Given the description of an element on the screen output the (x, y) to click on. 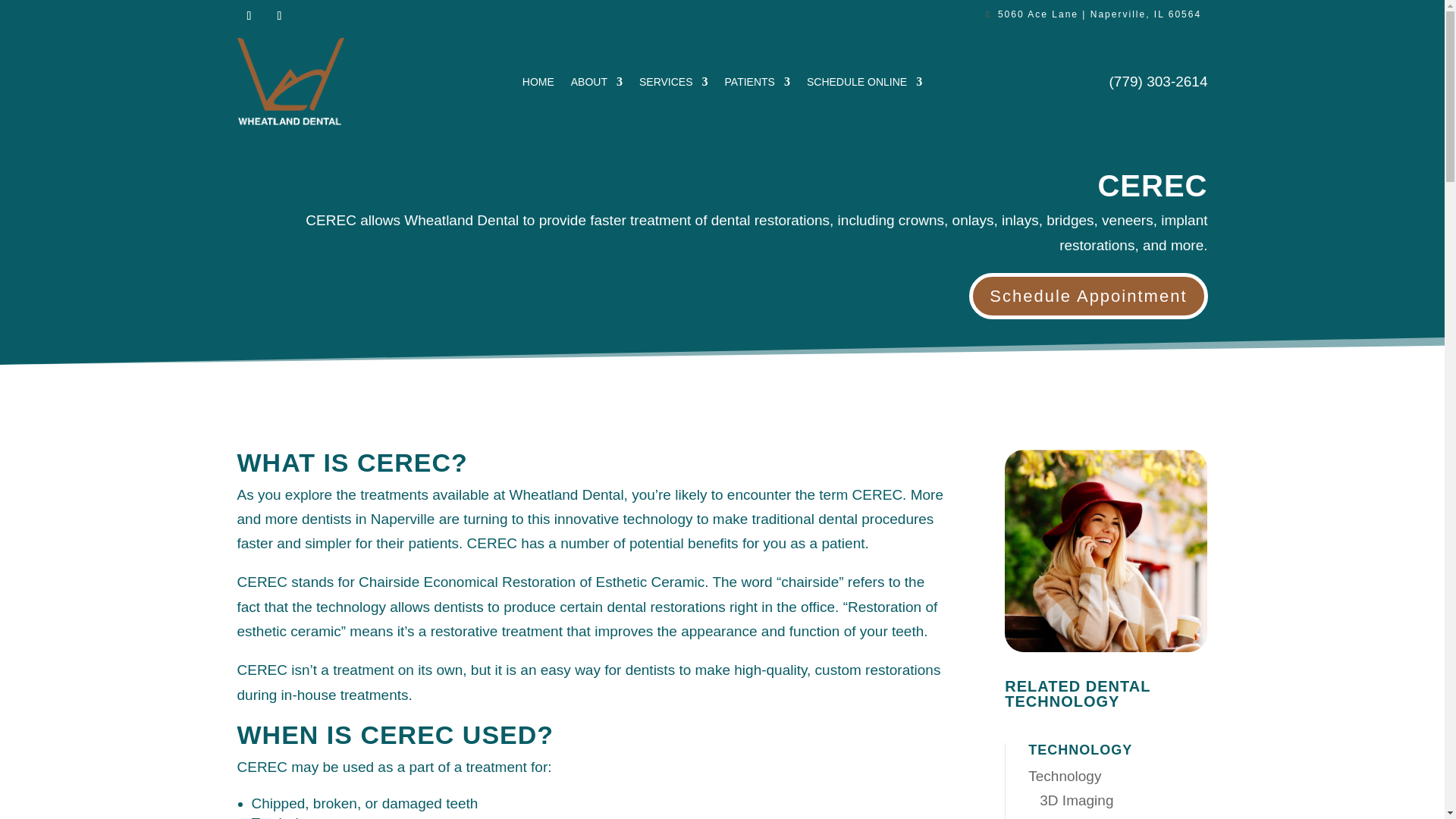
SERVICES (673, 84)
PATIENTS (757, 84)
HOME (538, 84)
Follow on Facebook (247, 15)
Follow on Yelp (278, 15)
CEREC (1105, 549)
SCHEDULE ONLINE (863, 84)
ABOUT (596, 84)
